Given the description of an element on the screen output the (x, y) to click on. 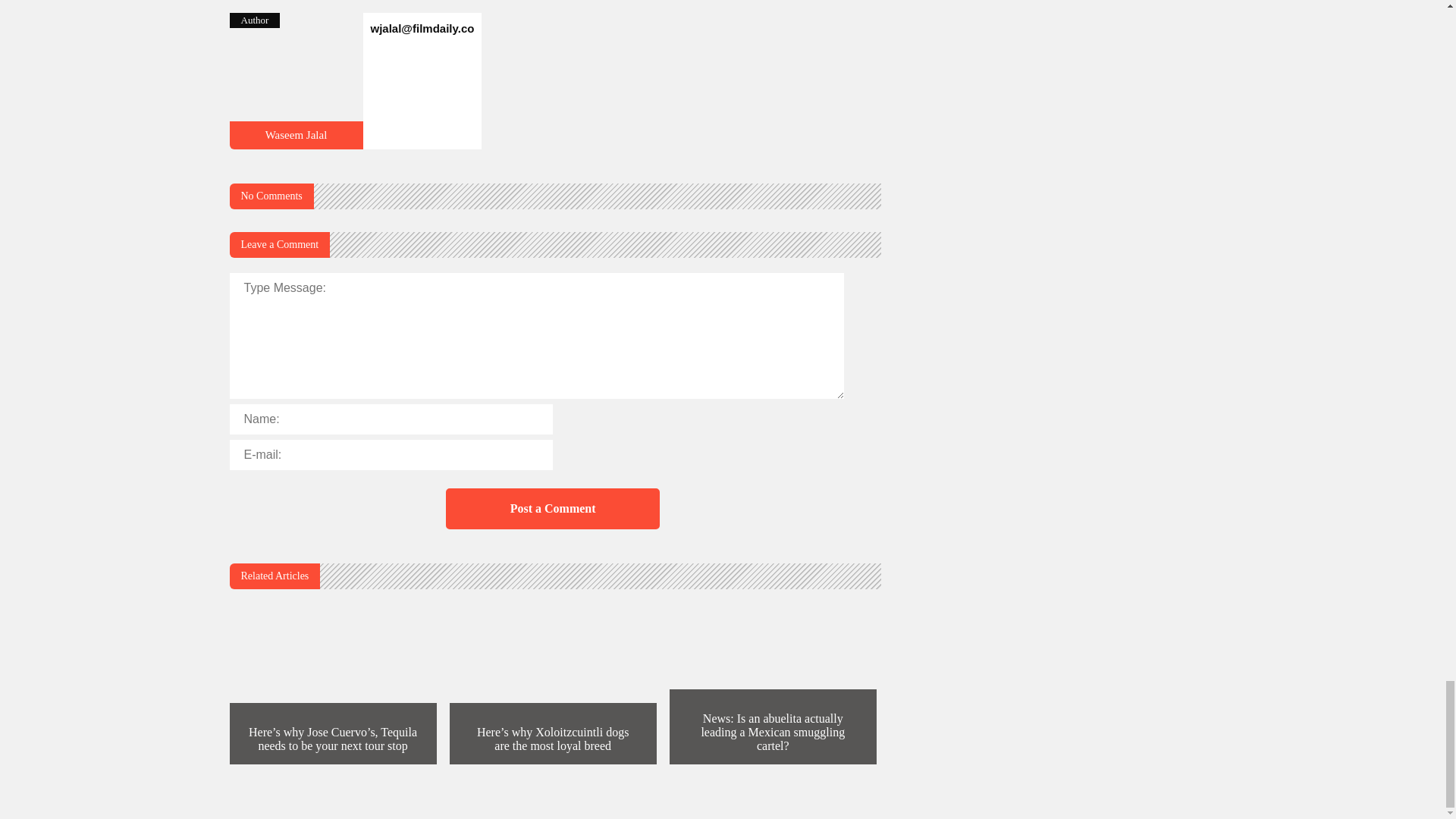
Post a Comment (552, 508)
